Given the description of an element on the screen output the (x, y) to click on. 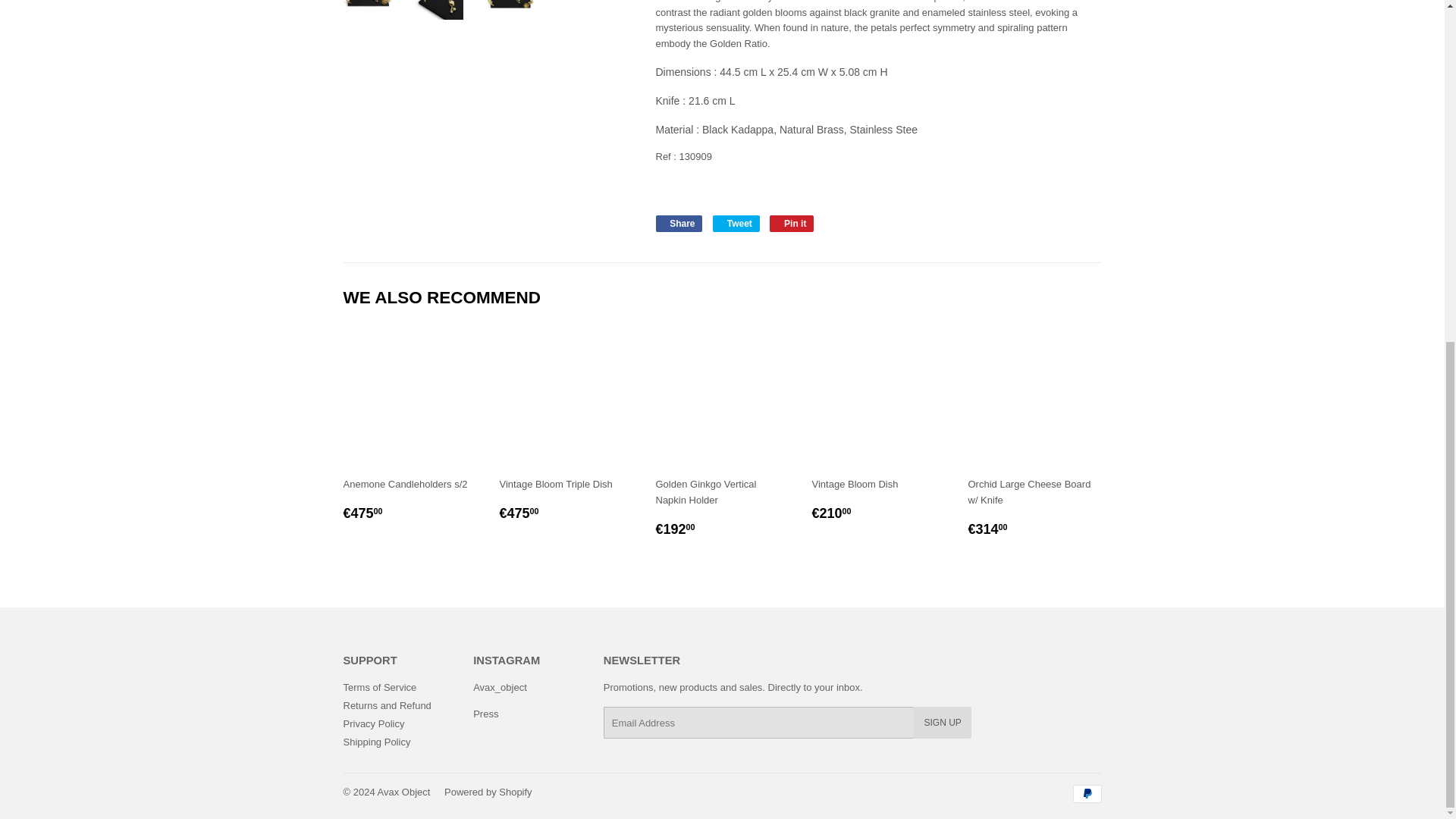
Tweet on Twitter (736, 223)
Share on Facebook (678, 223)
Pin on Pinterest (791, 223)
PayPal (1085, 793)
Press (485, 713)
